Given the description of an element on the screen output the (x, y) to click on. 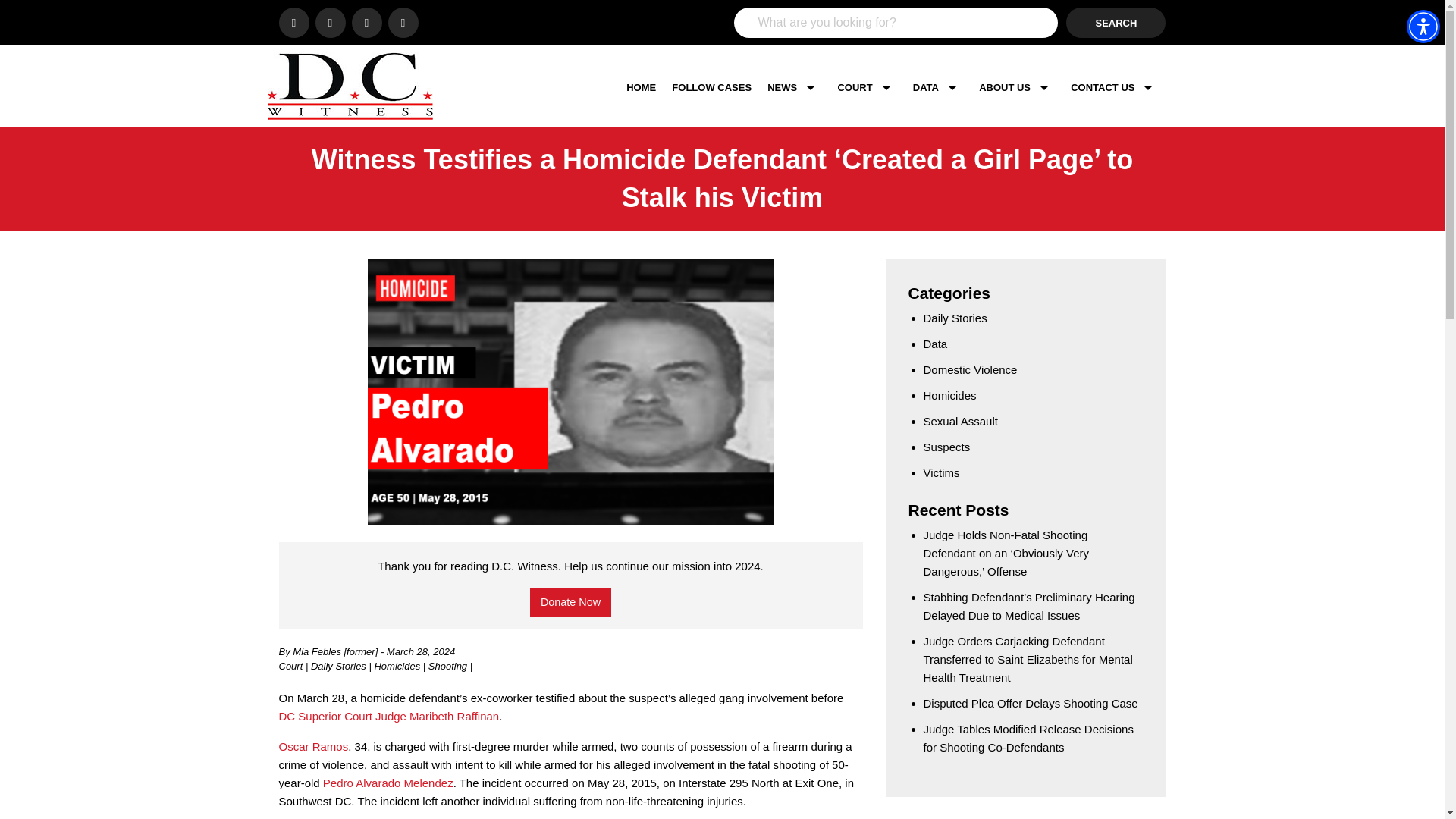
Donate Now (570, 602)
FOLLOW CASES (711, 87)
ABOUT US (1016, 87)
Daily Stories (340, 665)
Search (1115, 22)
COURT (866, 87)
Search (1115, 22)
DATA (938, 87)
CONTACT US (1114, 87)
Court (292, 665)
NEWS (794, 87)
Accessibility Menu (1422, 26)
Search (1115, 22)
